Given the description of an element on the screen output the (x, y) to click on. 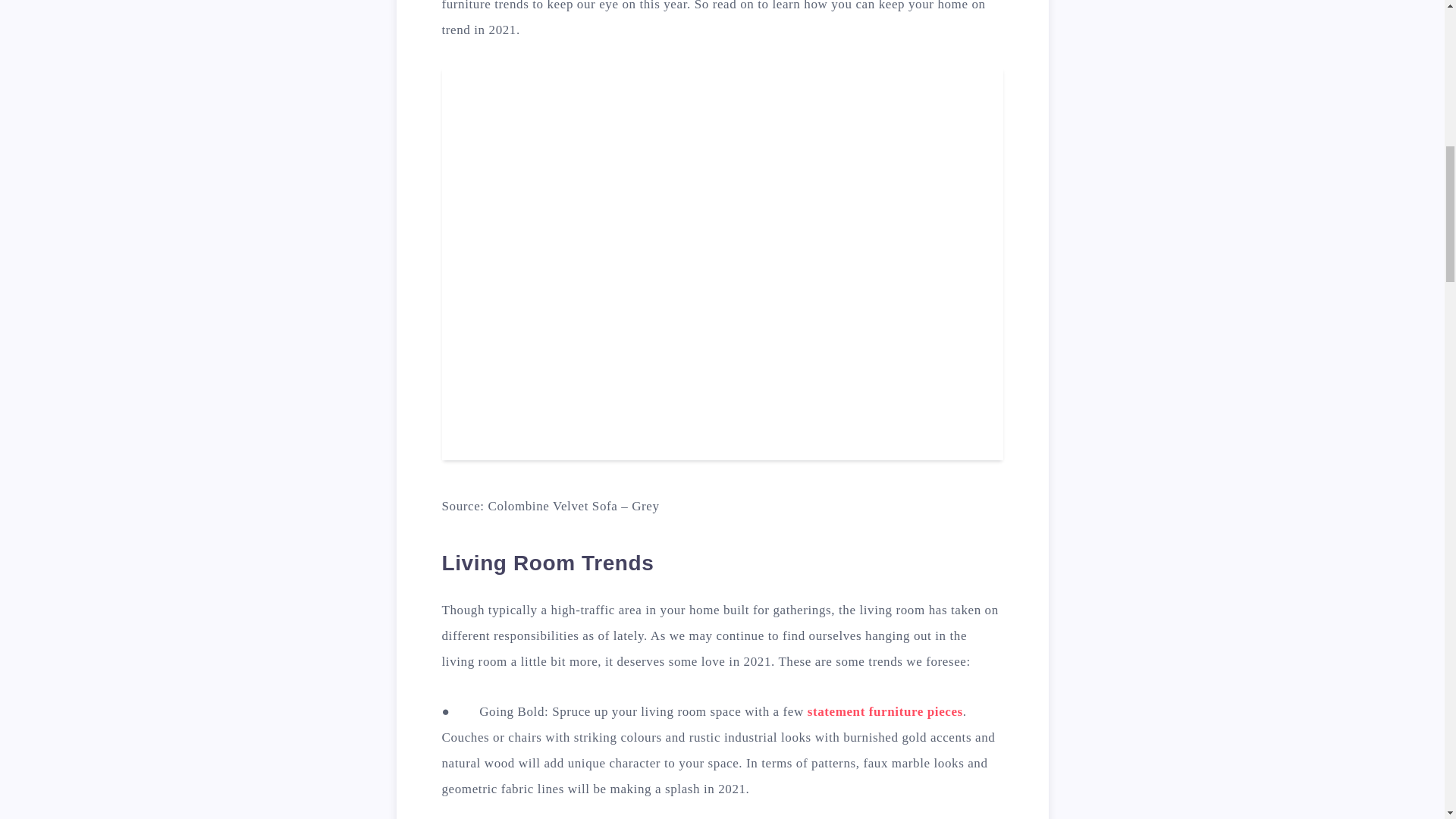
statement furniture pieces (885, 711)
